Given the description of an element on the screen output the (x, y) to click on. 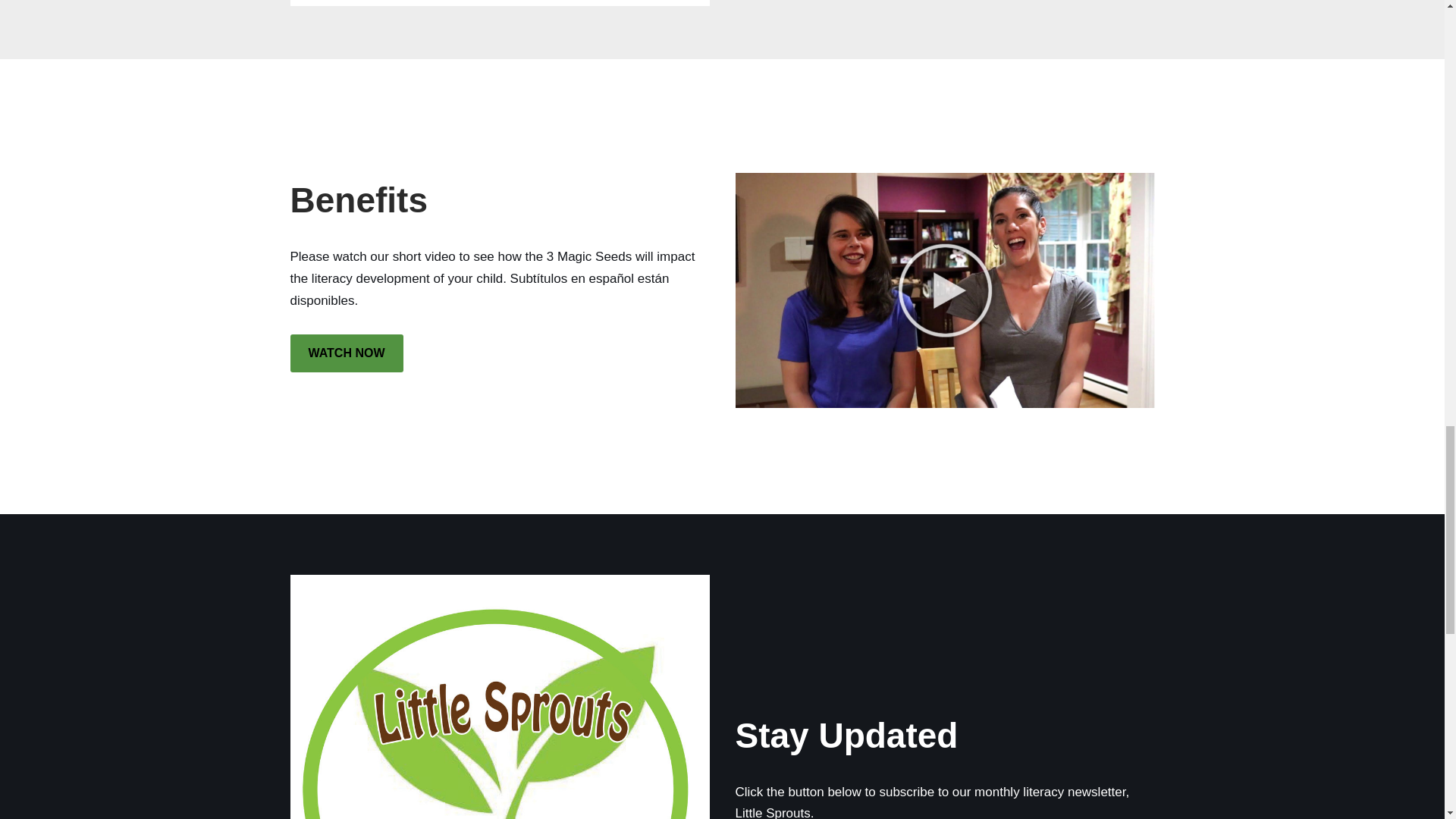
WATCH NOW (346, 353)
